Given the description of an element on the screen output the (x, y) to click on. 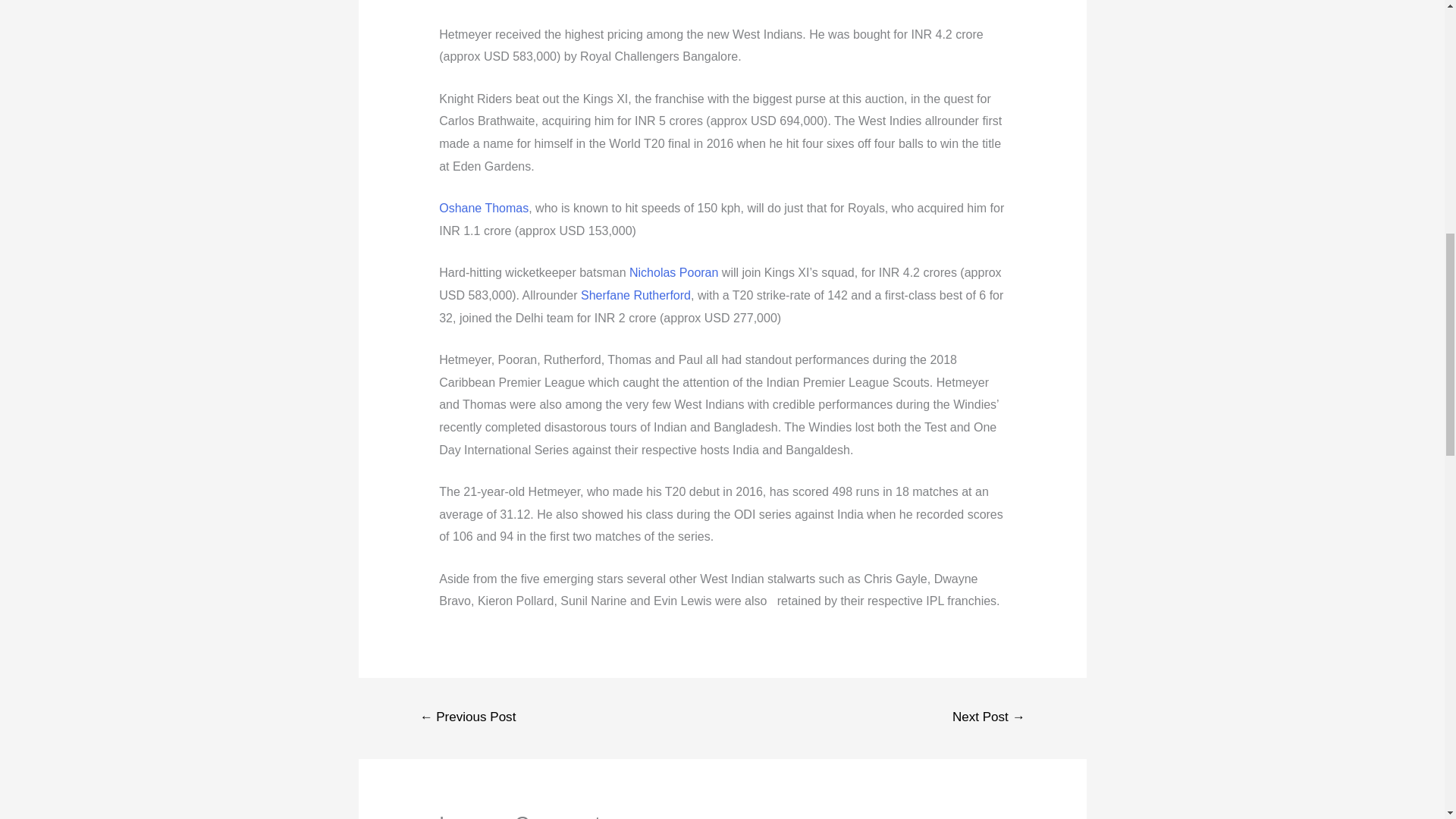
Oshane Thomas (483, 207)
Sherfane Rutherford (635, 295)
Nicholas Pooran (672, 272)
